Given the description of an element on the screen output the (x, y) to click on. 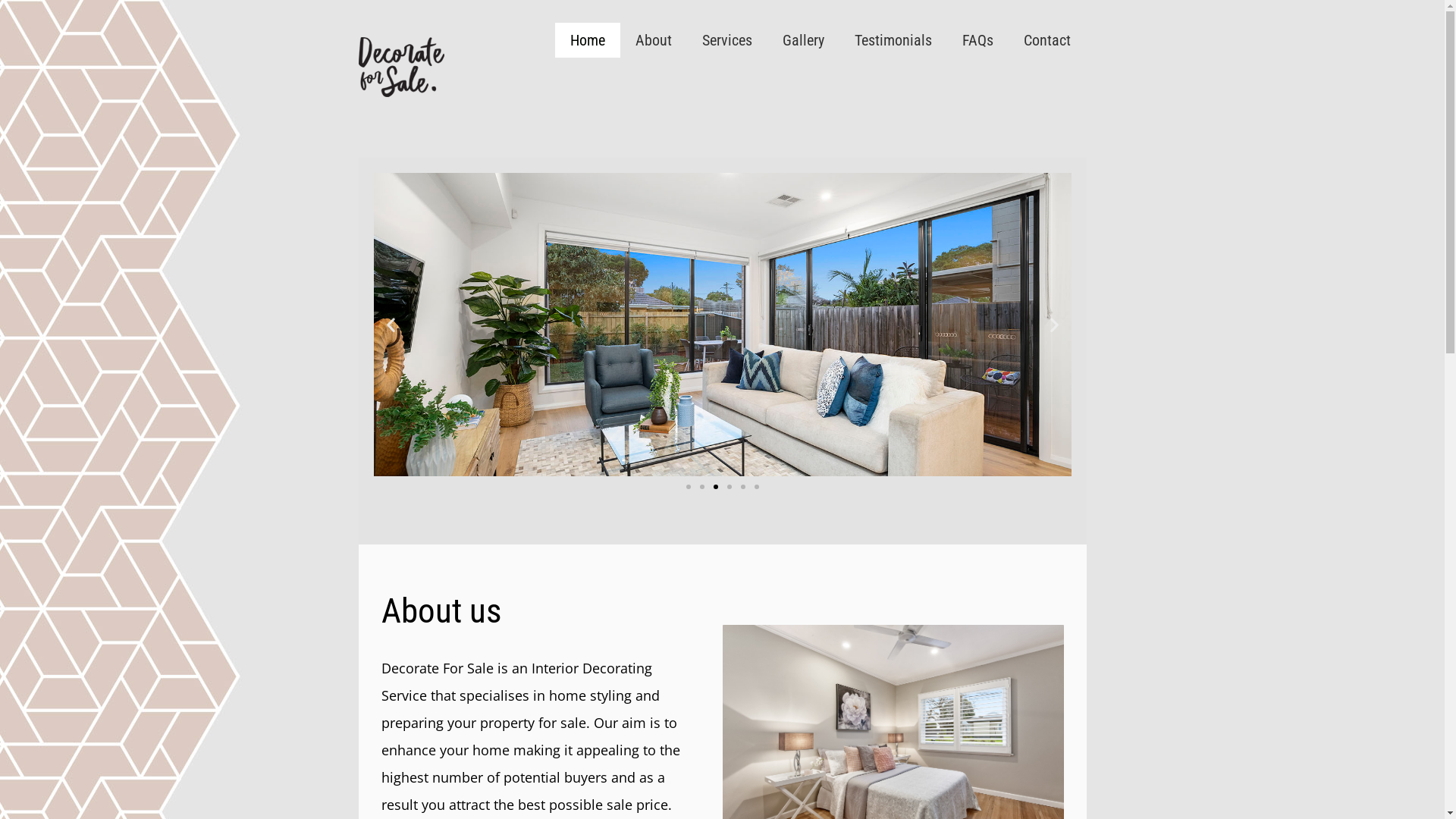
About Element type: text (653, 39)
Contact Element type: text (1046, 39)
Home Element type: text (587, 39)
Testimonials Element type: text (893, 39)
Services Element type: text (727, 39)
FAQs Element type: text (977, 39)
Gallery Element type: text (803, 39)
